Given the description of an element on the screen output the (x, y) to click on. 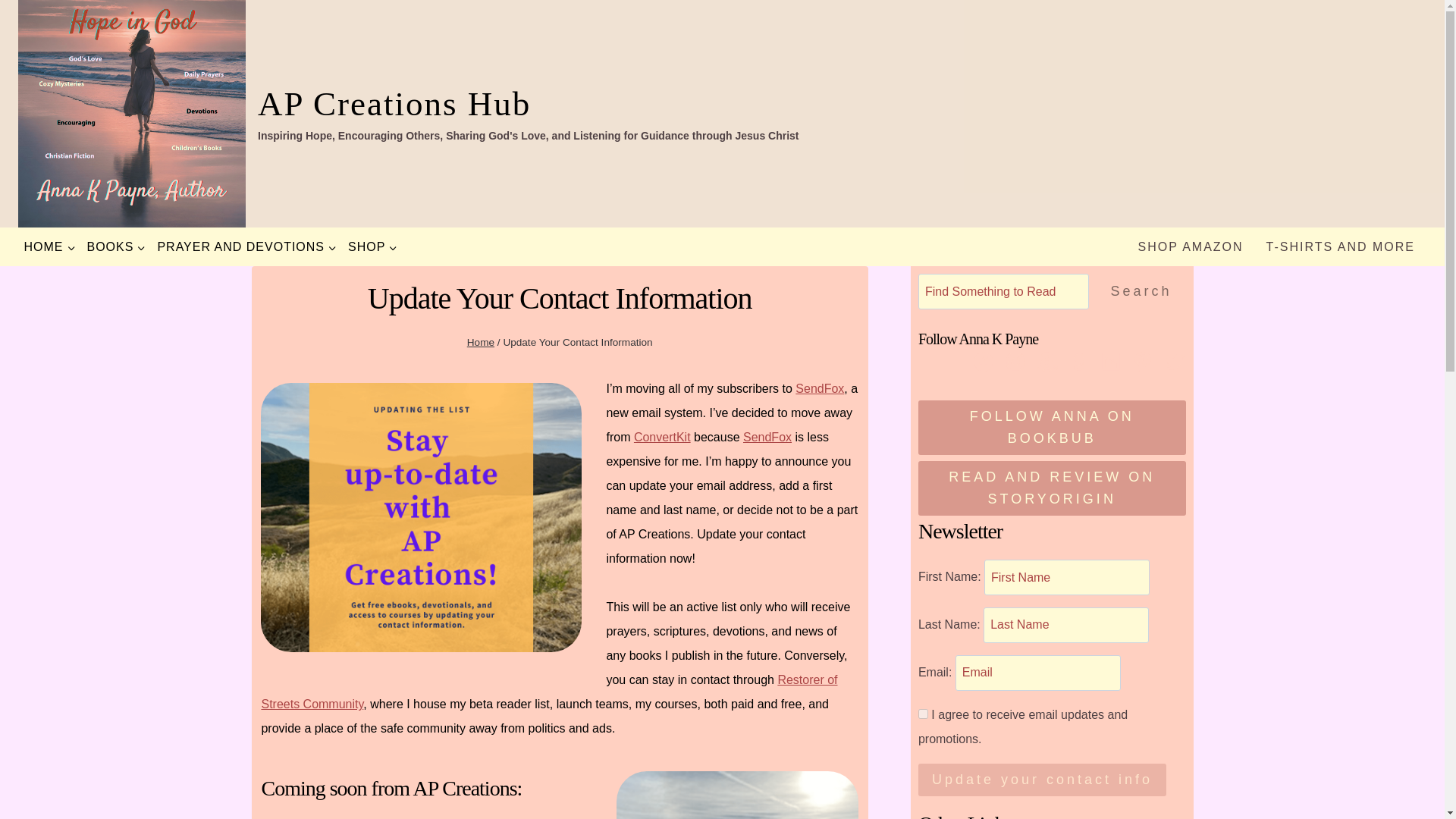
SHOP (372, 247)
T-SHIRTS AND MORE (1340, 246)
PRAYER AND DEVOTIONS (246, 247)
Home (481, 342)
SHOP AMAZON (1190, 246)
1 (923, 714)
BOOKS (116, 247)
ConvertKit (661, 436)
Restorer of Streets Community (548, 691)
SendFox (767, 436)
SendFox (819, 388)
HOME (49, 247)
